Given the description of an element on the screen output the (x, y) to click on. 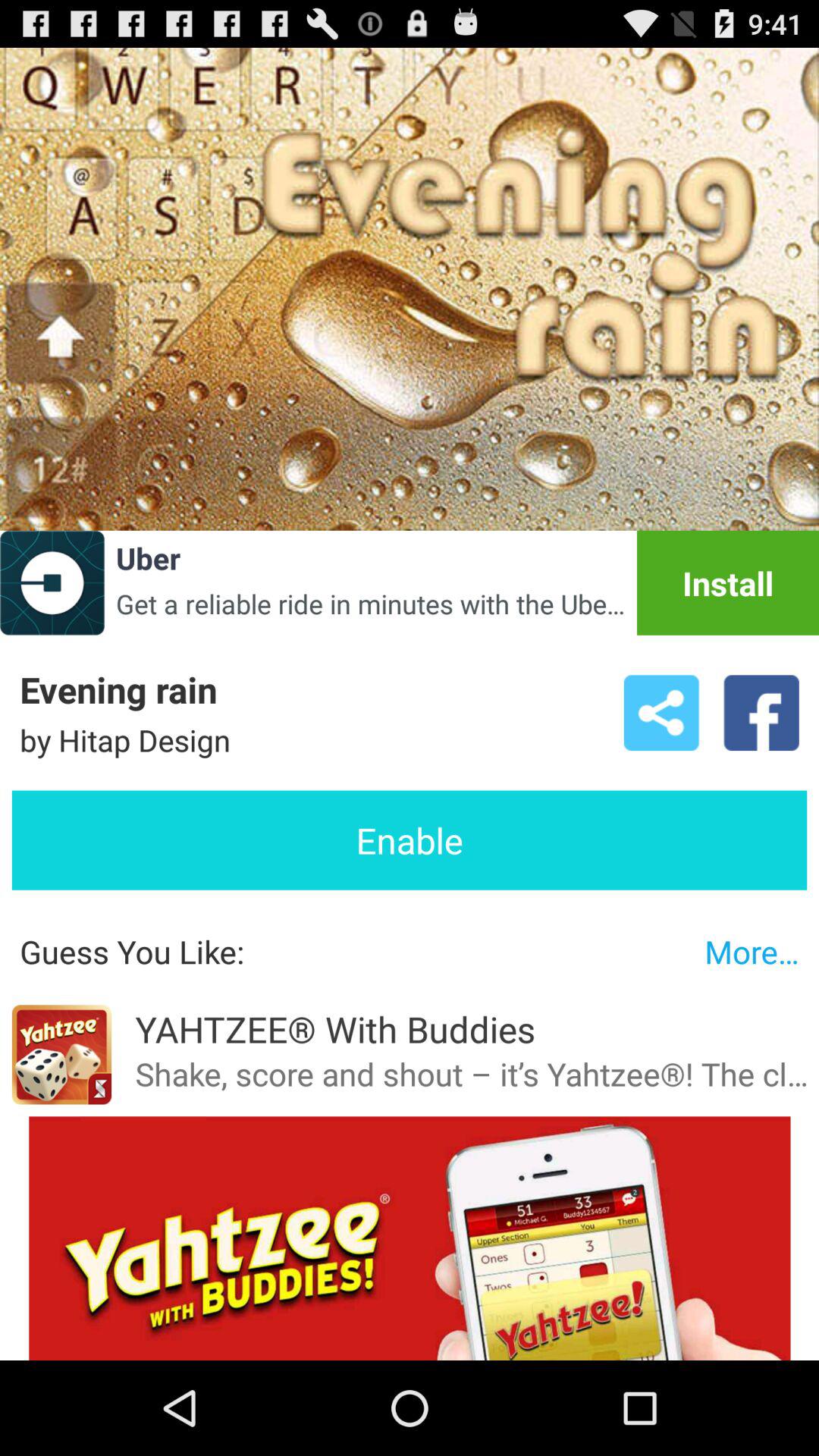
turn off icon above guess you like: item (409, 840)
